Given the description of an element on the screen output the (x, y) to click on. 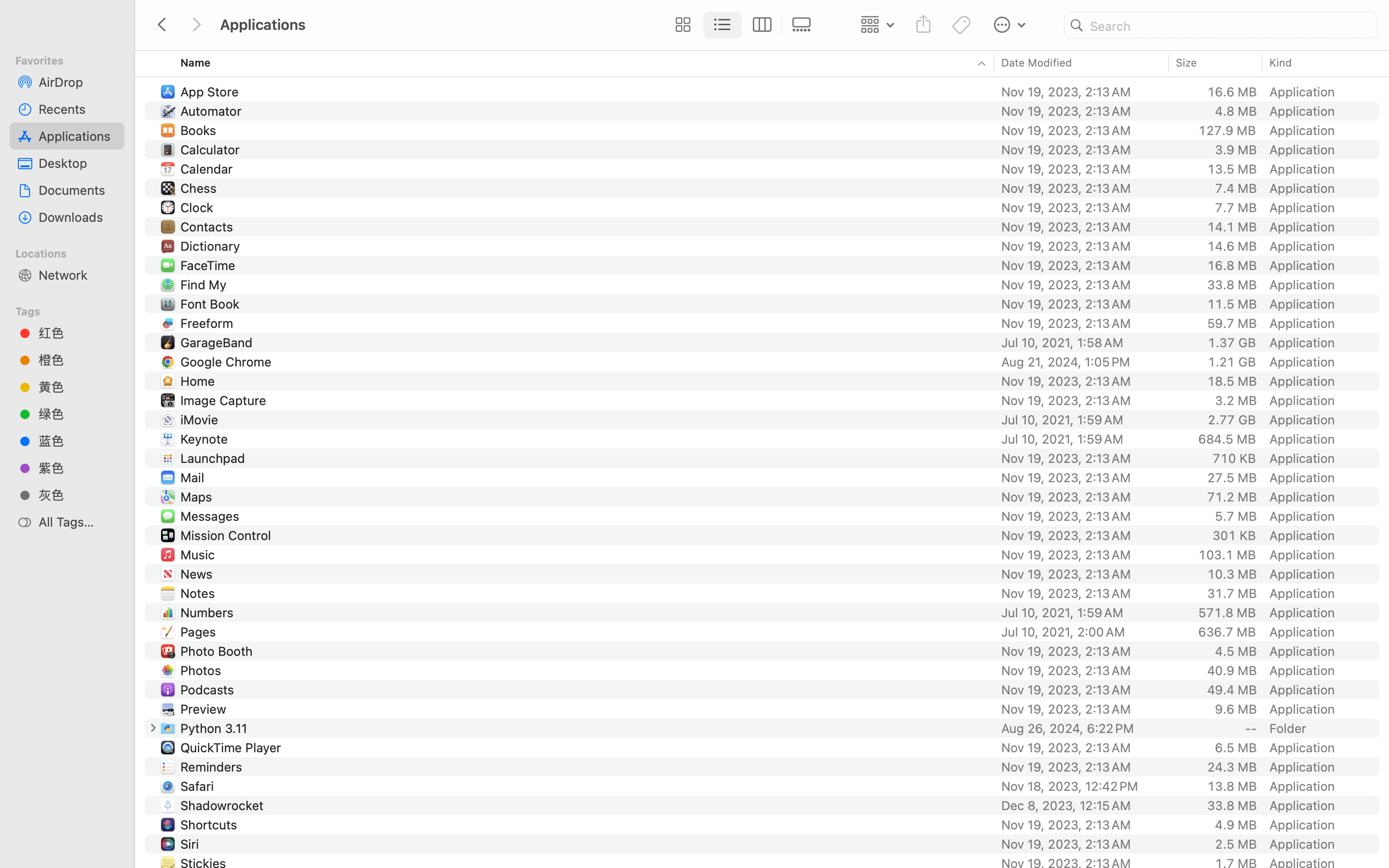
0 Element type: AXDisclosureTriangle (152, 727)
Tags… Element type: AXStaticText (20, 860)
Clock Element type: AXTextField (198, 207)
13.5 MB Element type: AXStaticText (1231, 168)
Dec 8, 2023, 12:15 AM Element type: AXStaticText (1081, 805)
